Given the description of an element on the screen output the (x, y) to click on. 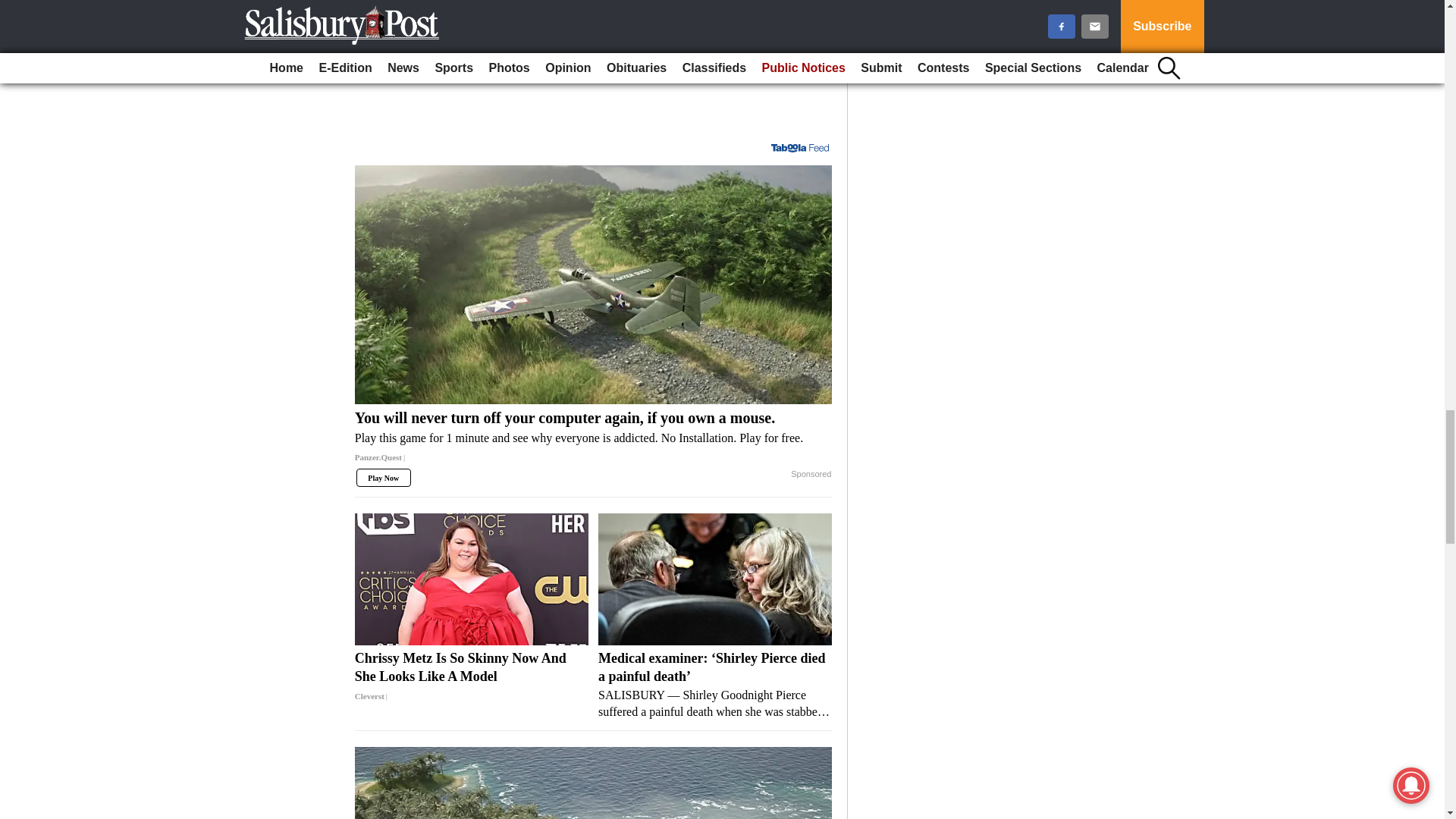
Chrissy Metz Is So Skinny Now And She Looks Like A Model (471, 677)
Chrissy Metz Is So Skinny Now And She Looks Like A Model (471, 578)
